Given the description of an element on the screen output the (x, y) to click on. 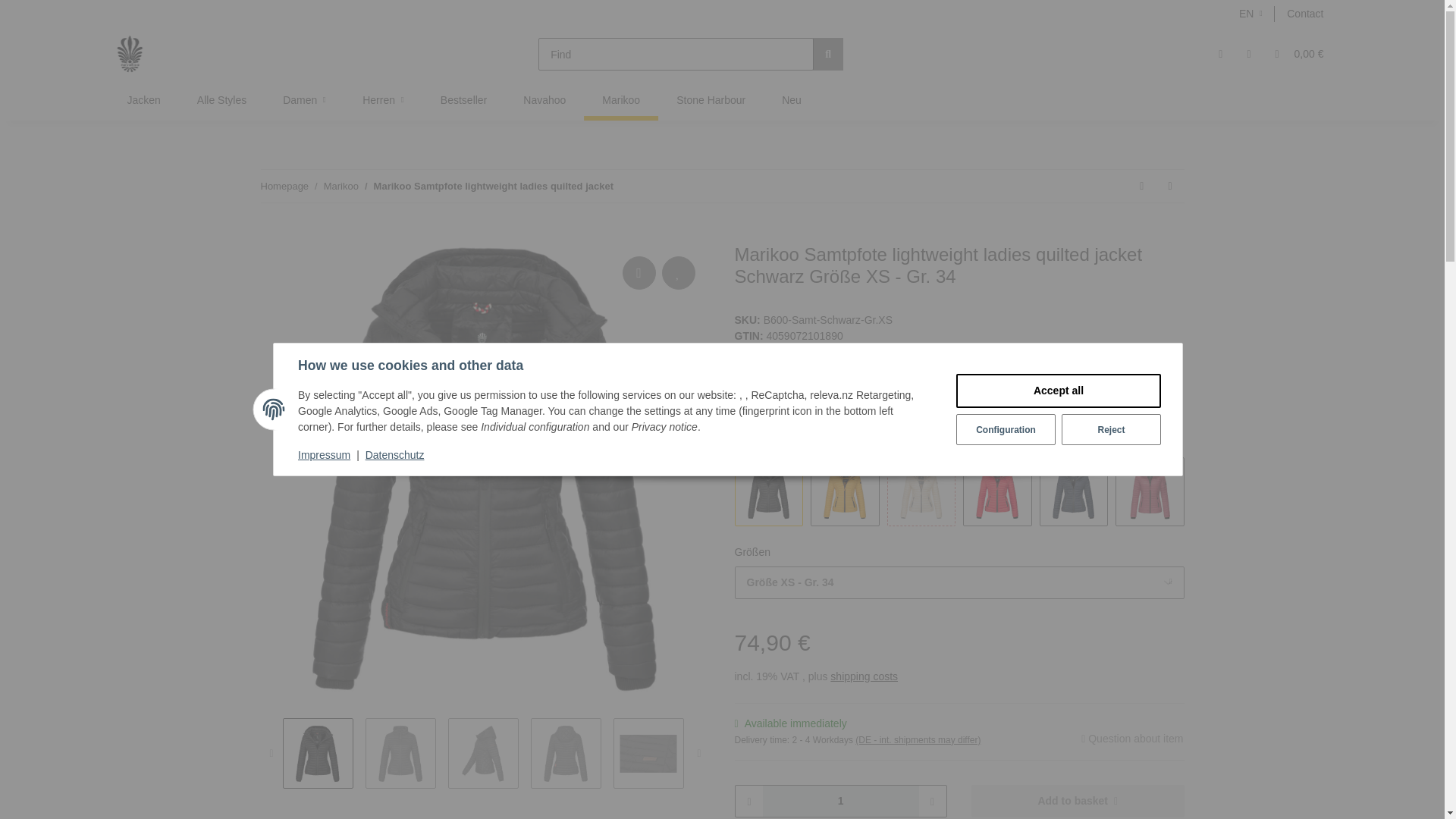
Navahoo (544, 100)
Neu (790, 100)
Marikoo (620, 100)
Marikoo (620, 100)
Navahoo (544, 100)
Bestseller (463, 100)
Bestseller (463, 100)
Neu (790, 100)
6989 (773, 462)
6996 (1306, 462)
Alle Styles (221, 100)
6997 (926, 462)
Herren (382, 100)
15368 (1383, 462)
6995 (1230, 462)
